Given the description of an element on the screen output the (x, y) to click on. 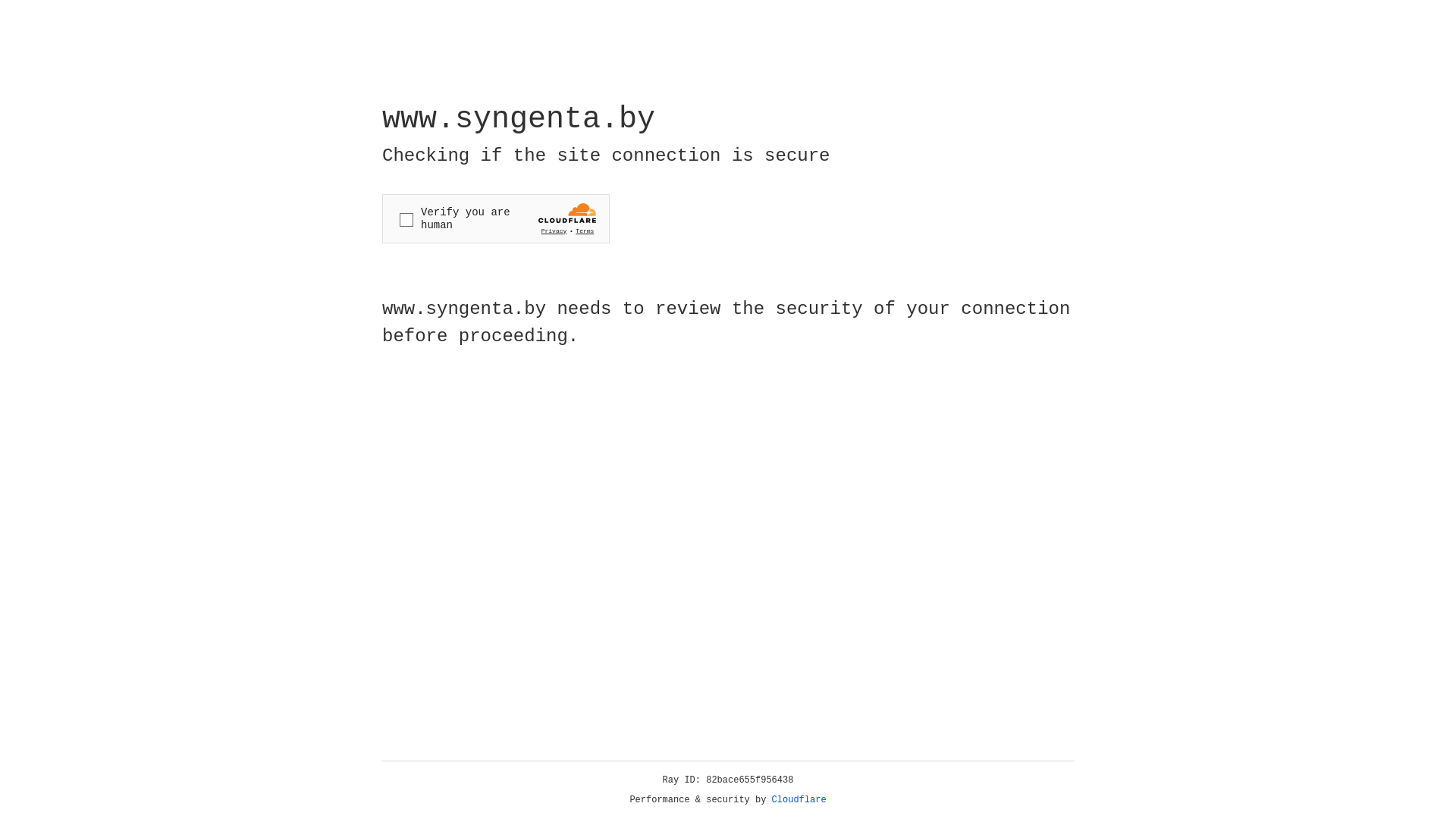
Widget containing a Cloudflare security challenge Element type: hover (495, 218)
Cloudflare Element type: text (798, 799)
